Given the description of an element on the screen output the (x, y) to click on. 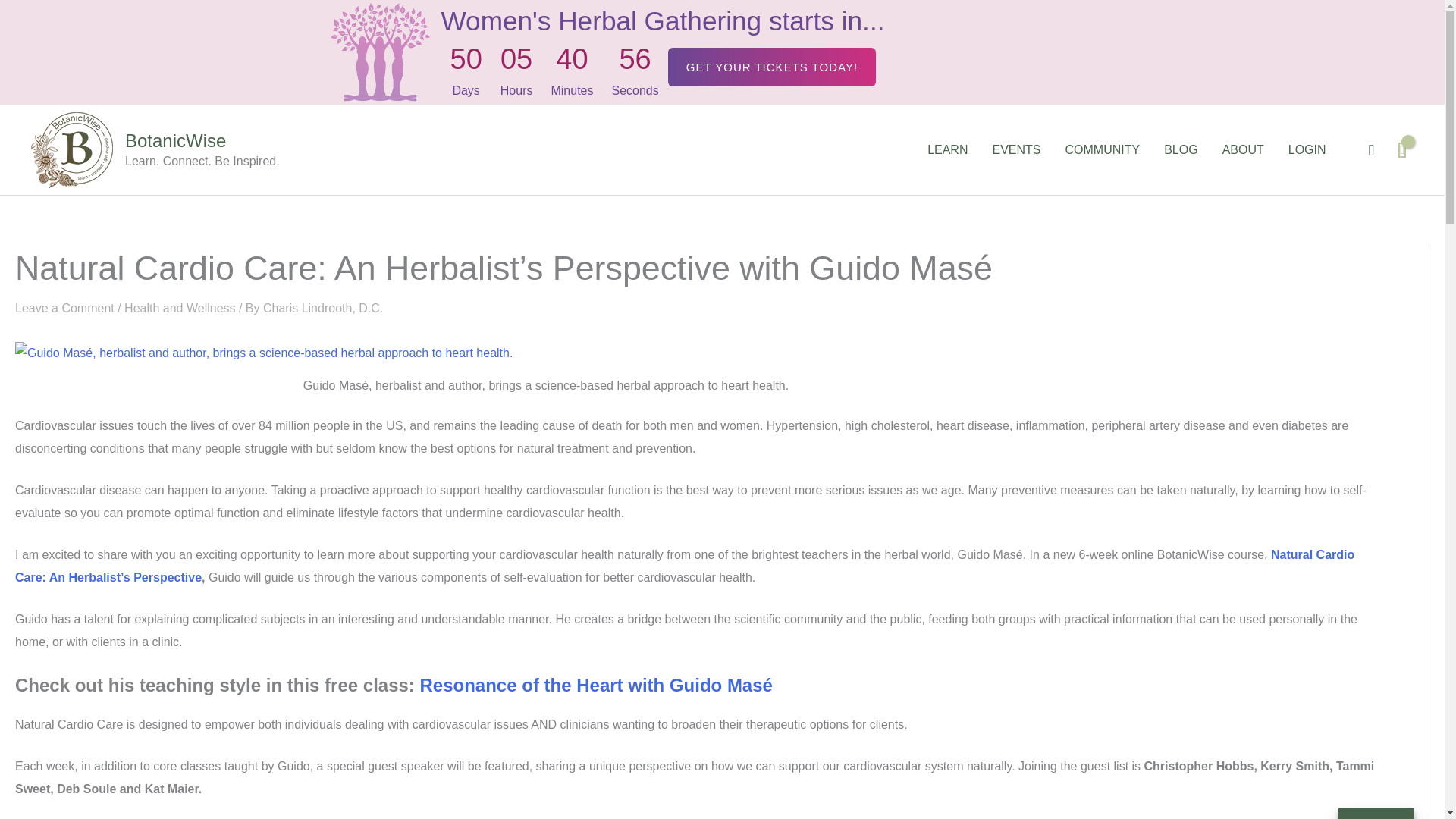
Leave a Comment (64, 308)
EVENTS (1015, 150)
Health and Wellness (178, 308)
Charis Lindrooth, D.C. (322, 308)
COMMUNITY (1101, 150)
GET YOUR TICKETS TODAY! (772, 66)
BotanicWise (175, 140)
View all posts by Charis Lindrooth, D.C. (322, 308)
